Given the description of an element on the screen output the (x, y) to click on. 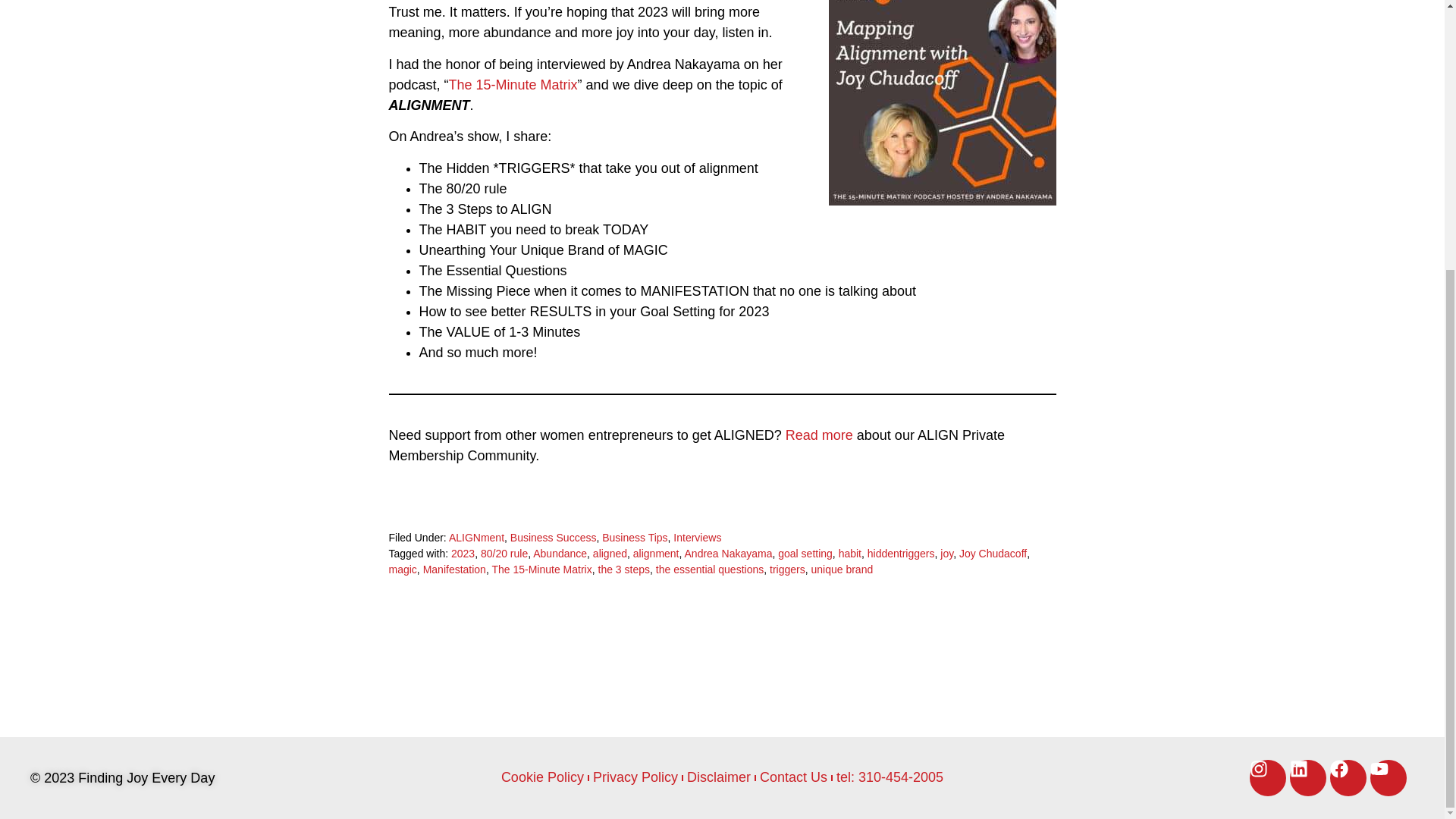
Andrea Nakayama (728, 553)
aligned (609, 553)
alignment (656, 553)
Business Success (553, 537)
Manifestation (454, 569)
The 15-Minute Matrix (513, 84)
2023 (462, 553)
joy (946, 553)
magic (402, 569)
habit (849, 553)
the 3 steps (624, 569)
ALIGNment (475, 537)
The 15-Minute Matrix (541, 569)
Read more (819, 435)
goal setting (804, 553)
